Given the description of an element on the screen output the (x, y) to click on. 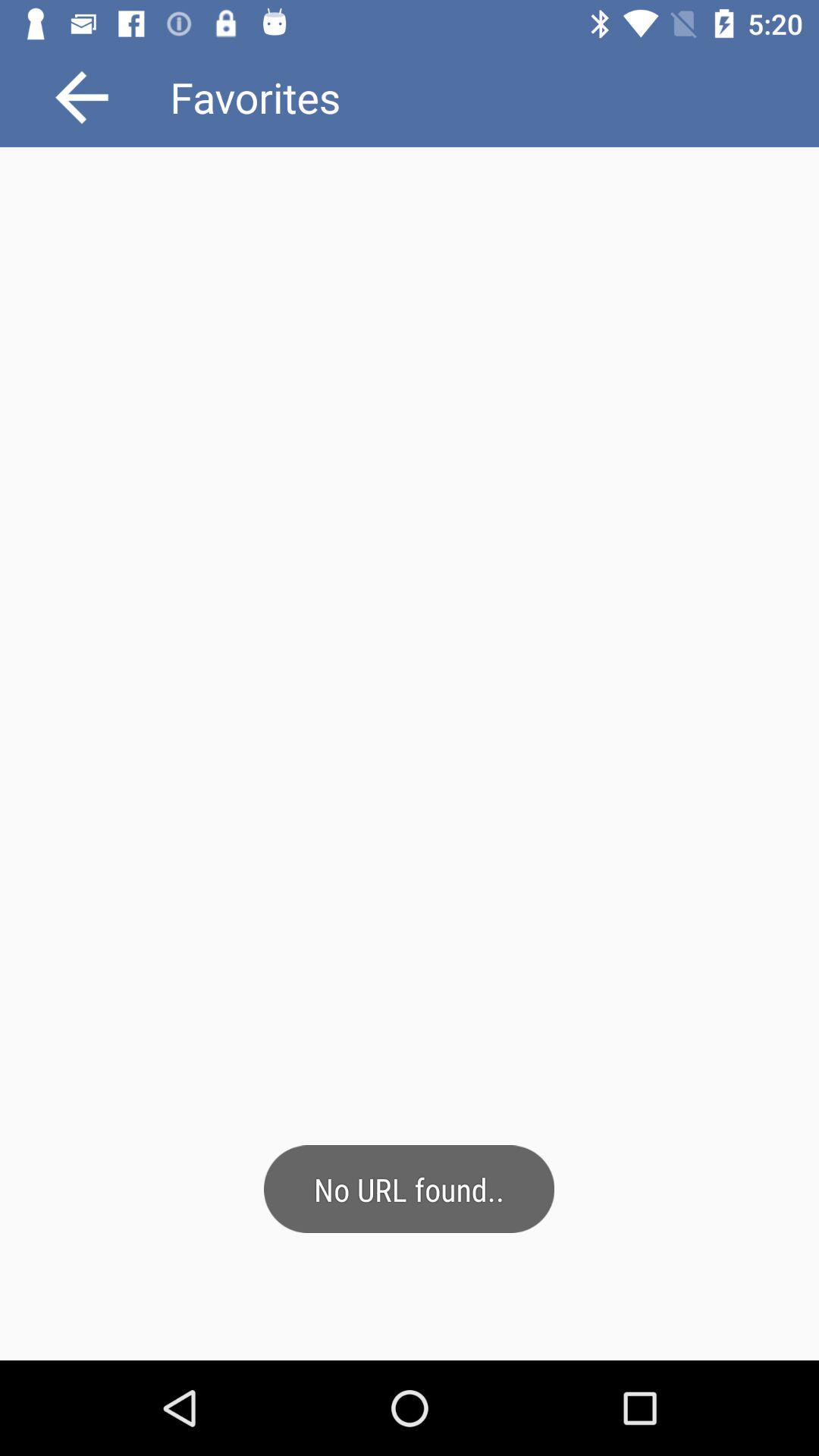
back (81, 97)
